Given the description of an element on the screen output the (x, y) to click on. 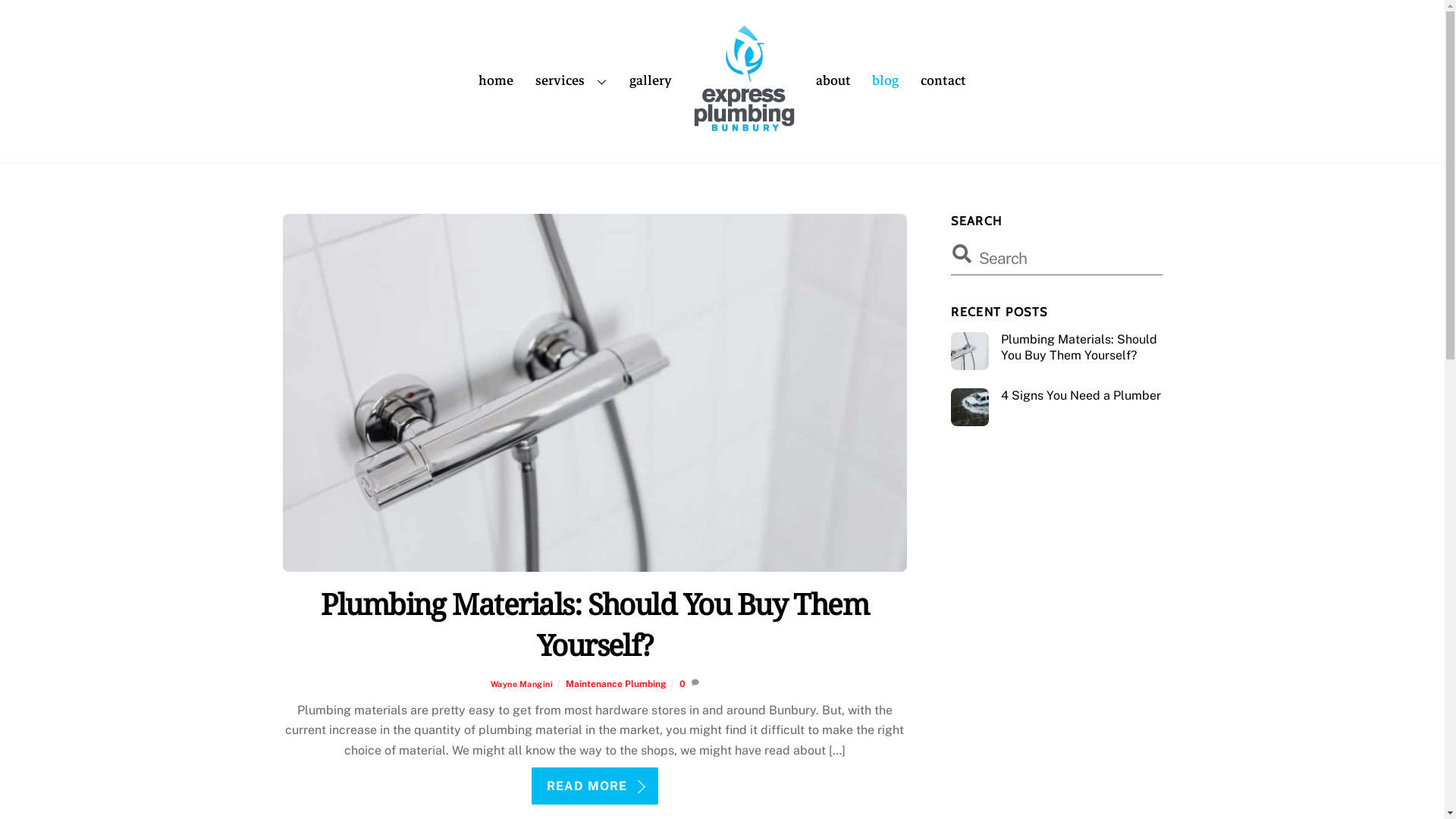
Wayne Mangini Element type: text (521, 683)
gallery Element type: text (650, 80)
Shower Tap Element type: hover (594, 392)
READ MORE Element type: text (594, 785)
services Element type: text (571, 80)
Express Plumbing Bunbury Element type: hover (743, 81)
Plumbing Materials: Should You Buy Them Yourself? Element type: text (1055, 348)
blog Element type: text (885, 80)
4 Signs You Need a Plumber Element type: text (1055, 396)
wade-austin-ellis-1140958-unsplash Element type: hover (969, 407)
Search Element type: hover (1055, 257)
about Element type: text (832, 80)
contact Element type: text (943, 80)
Maintenance Plumbing Element type: text (615, 683)
Shower Tap Element type: hover (969, 351)
0 Element type: text (682, 683)
home Element type: text (495, 80)
